Given the description of an element on the screen output the (x, y) to click on. 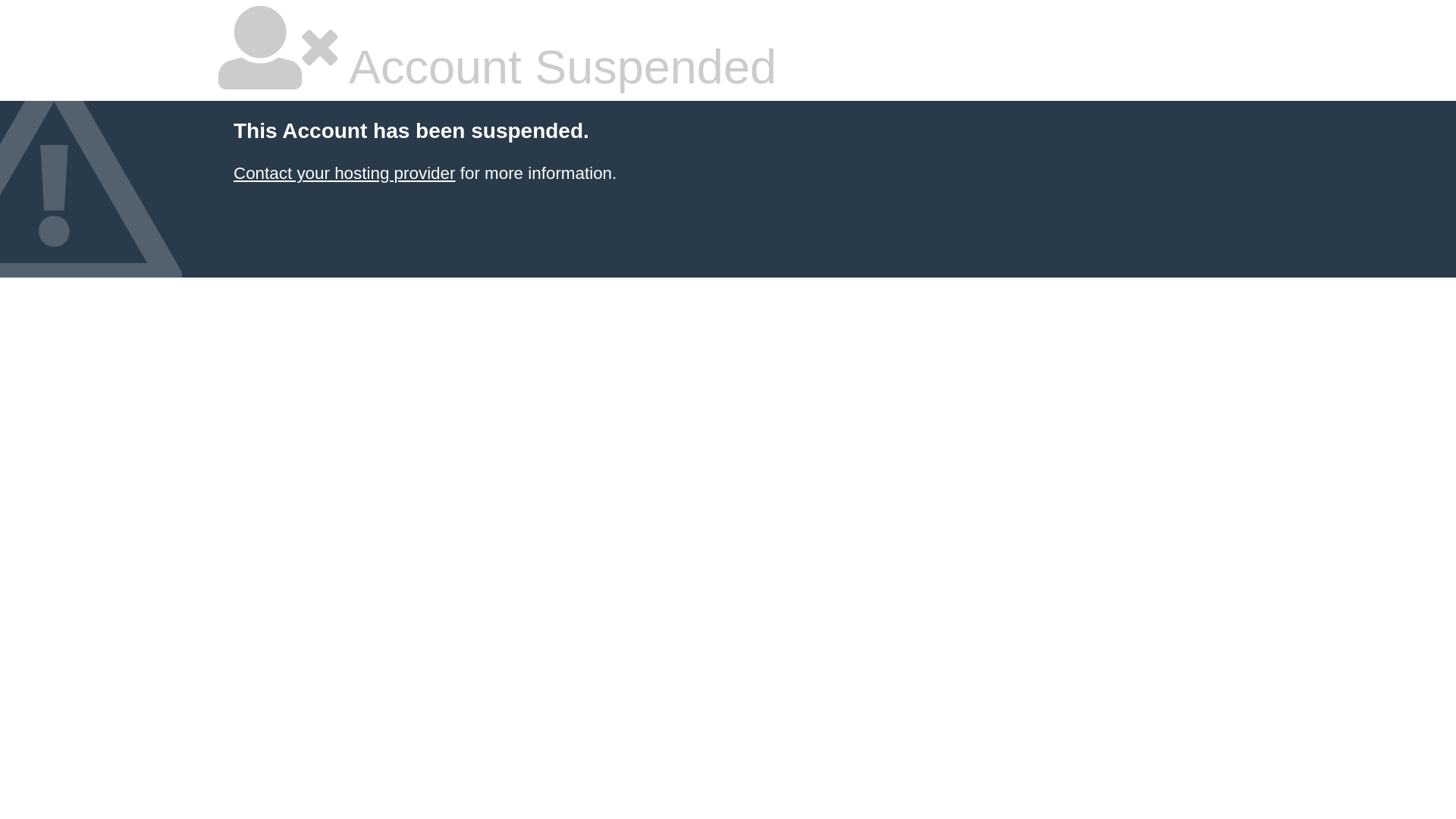
Contact your hosting provider Element type: text (344, 172)
